Given the description of an element on the screen output the (x, y) to click on. 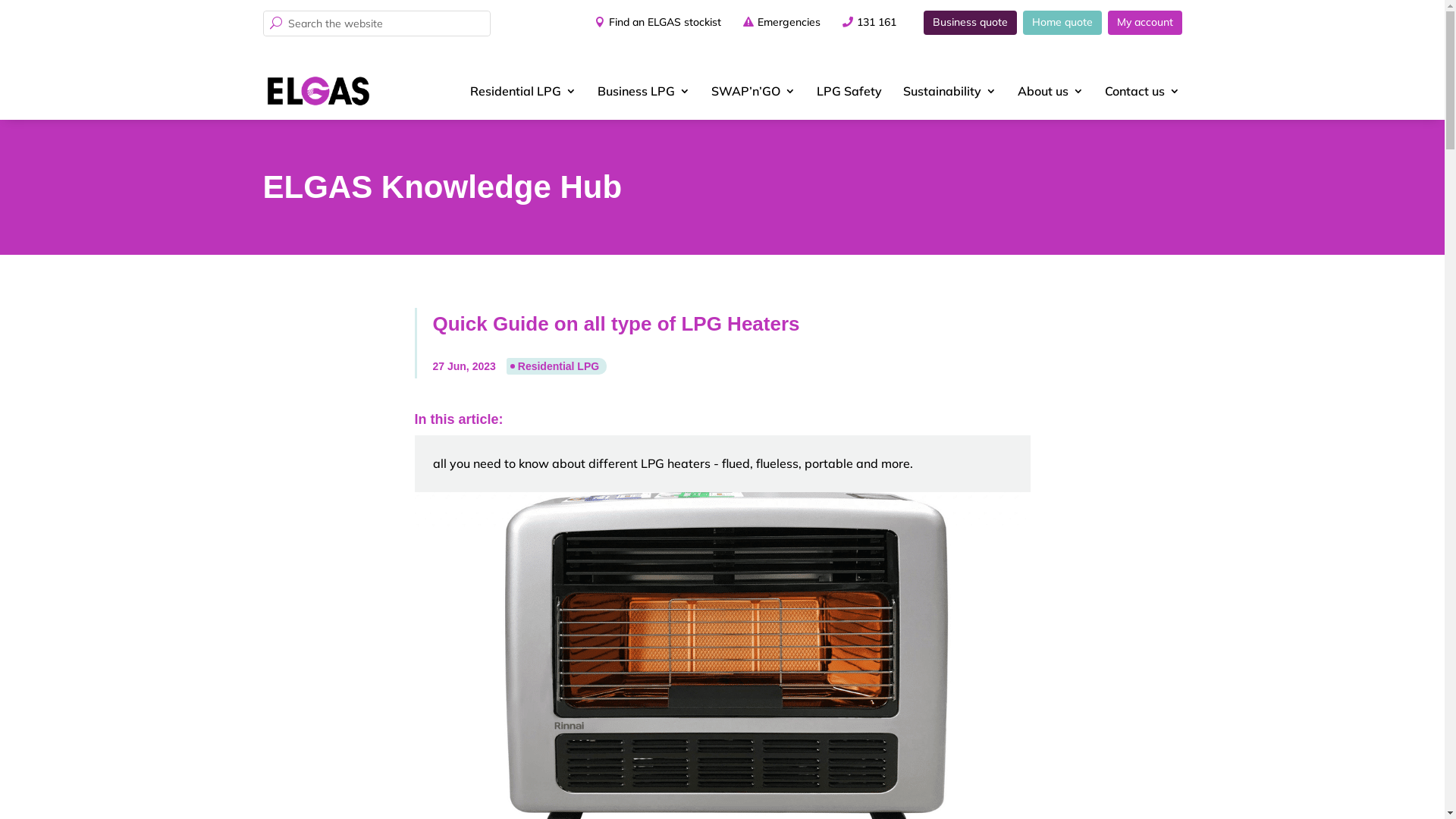
My account Element type: text (1144, 22)
Find an ELGAS stockist Element type: text (652, 22)
Business LPG Element type: text (643, 90)
LPG Safety Element type: text (848, 90)
Contact us Element type: text (1141, 90)
Residential LPG Element type: text (556, 365)
Home quote Element type: text (1061, 22)
Sustainability Element type: text (948, 90)
Business quote Element type: text (969, 22)
About us Element type: text (1050, 90)
131 161 Element type: text (876, 22)
Residential LPG Element type: text (523, 90)
Search Element type: text (24, 12)
Emergencies Element type: text (787, 22)
